Given the description of an element on the screen output the (x, y) to click on. 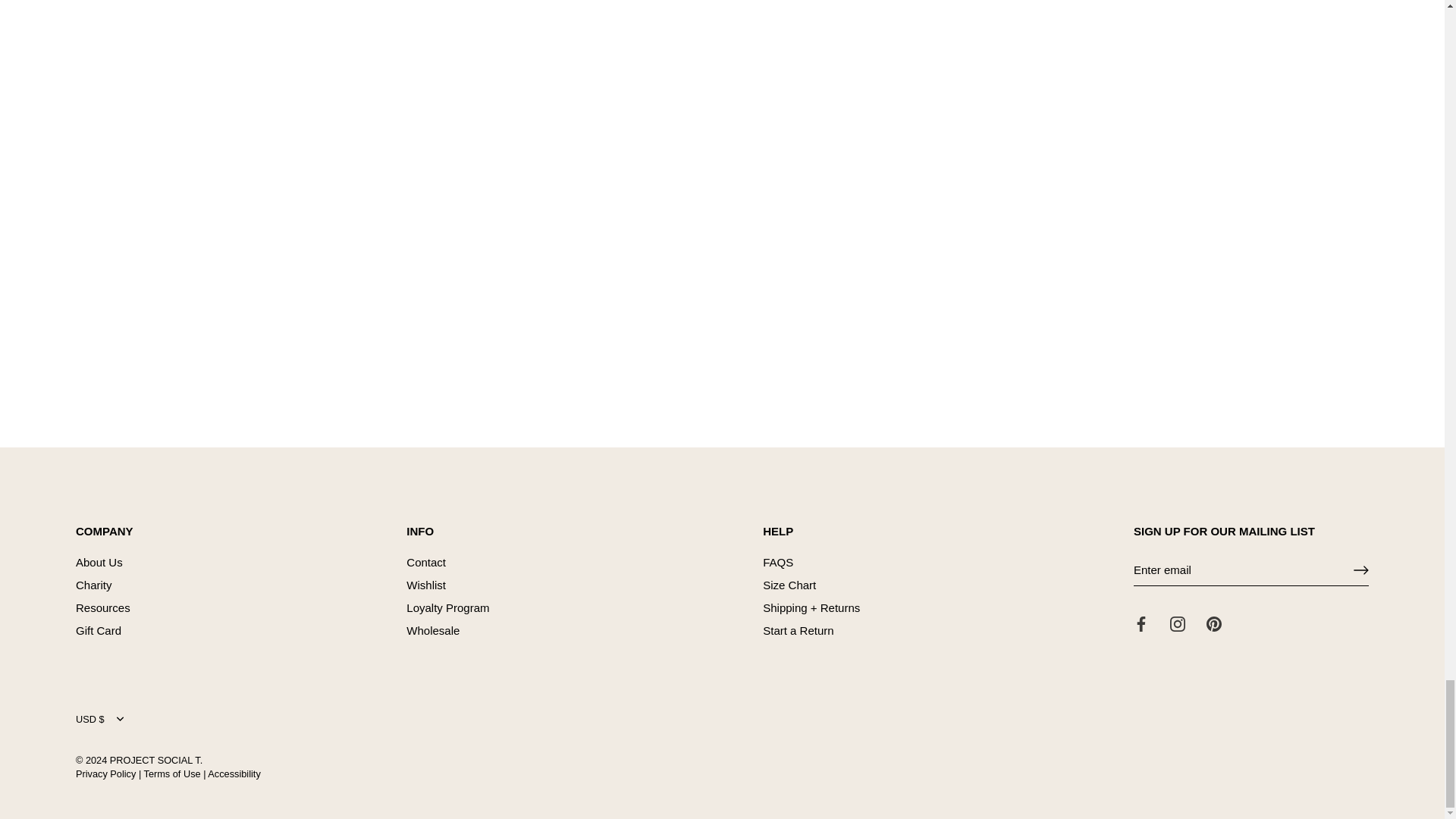
Instagram (1177, 622)
Pinterest (1214, 622)
RIGHT ARROW LONG (1361, 570)
